Given the description of an element on the screen output the (x, y) to click on. 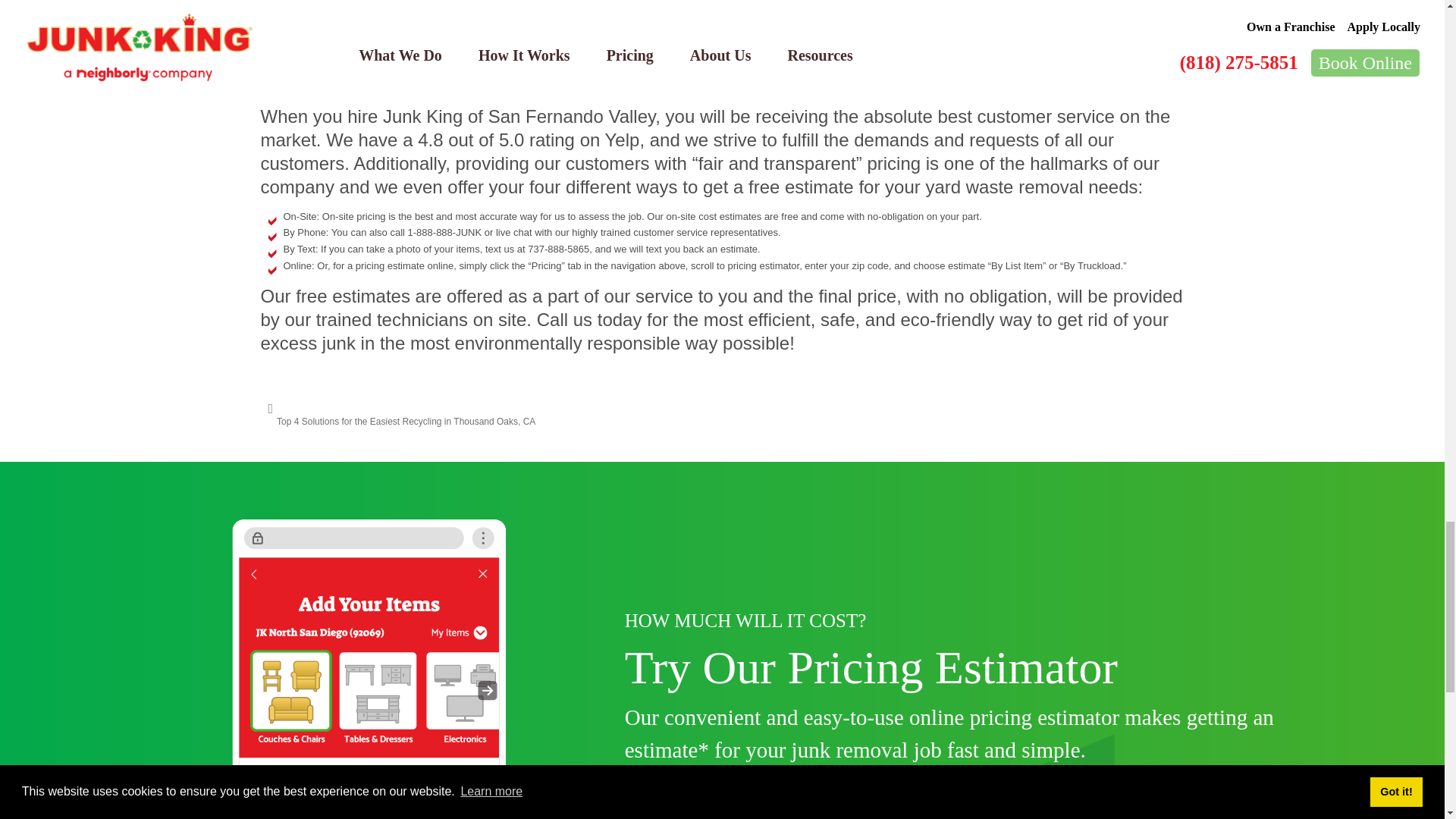
phone (368, 669)
